Given the description of an element on the screen output the (x, y) to click on. 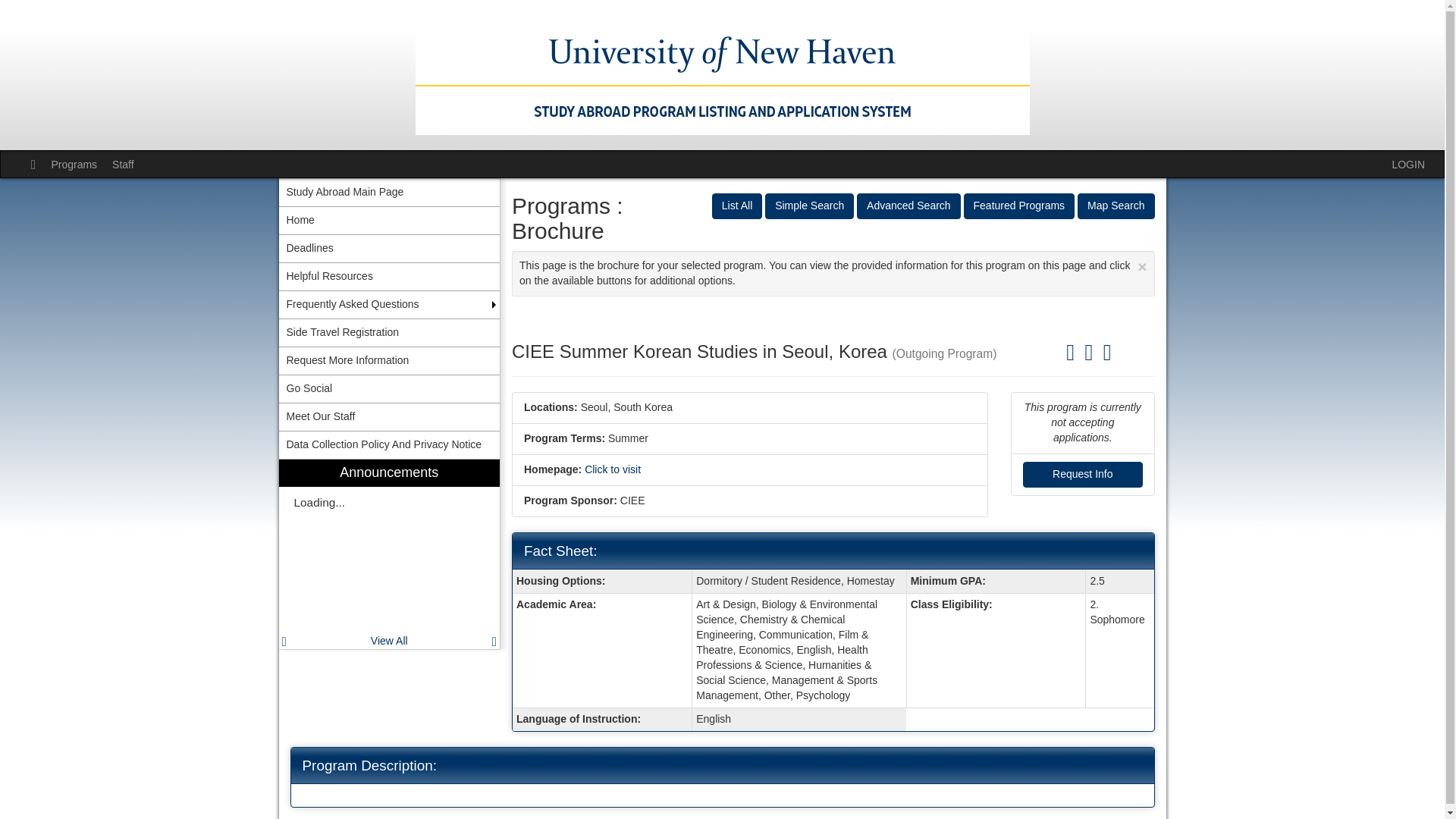
Advanced Search (908, 206)
View All (389, 640)
Home (389, 220)
Helpful Resources (389, 276)
Map Search (1115, 206)
Staff (122, 163)
Deadlines (389, 248)
Data Collection Policy And Privacy Notice (389, 444)
Side Travel Registration (389, 332)
Study Abroad Main Page (389, 192)
